Given the description of an element on the screen output the (x, y) to click on. 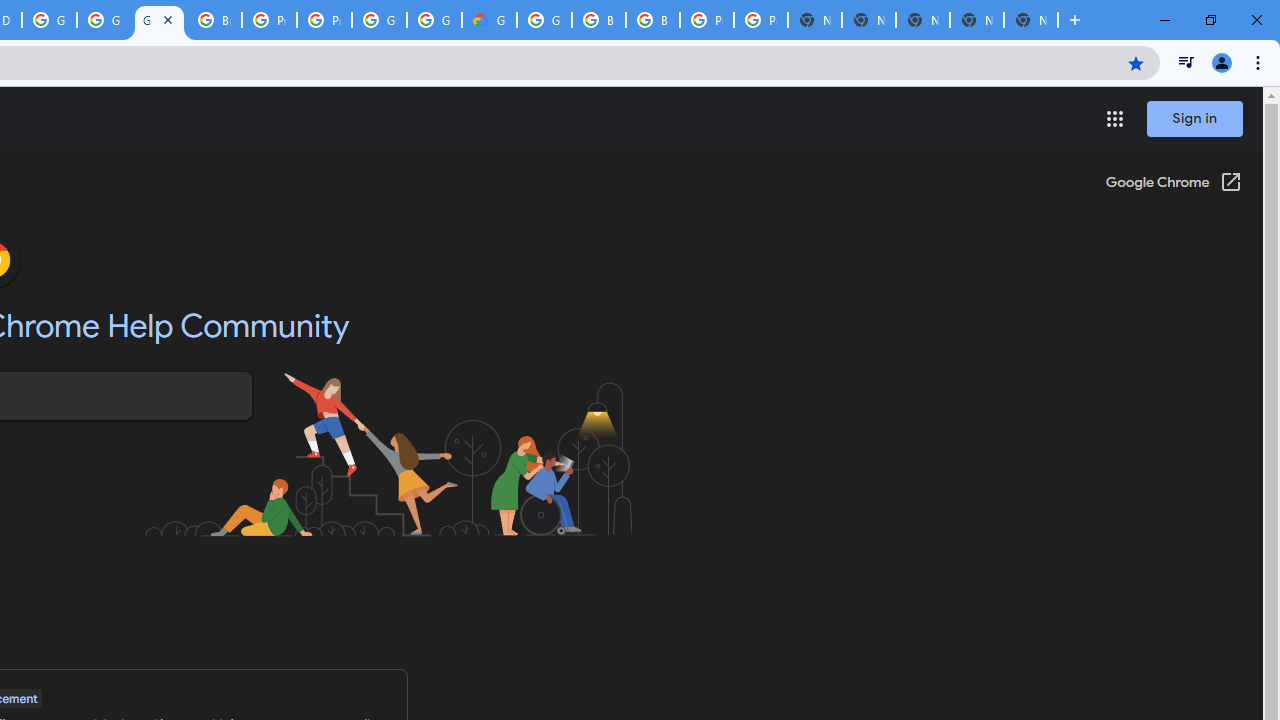
Google Cloud Estimate Summary (489, 20)
New Tab (1030, 20)
Google Chrome (Open in a new window) (1173, 183)
